Given the description of an element on the screen output the (x, y) to click on. 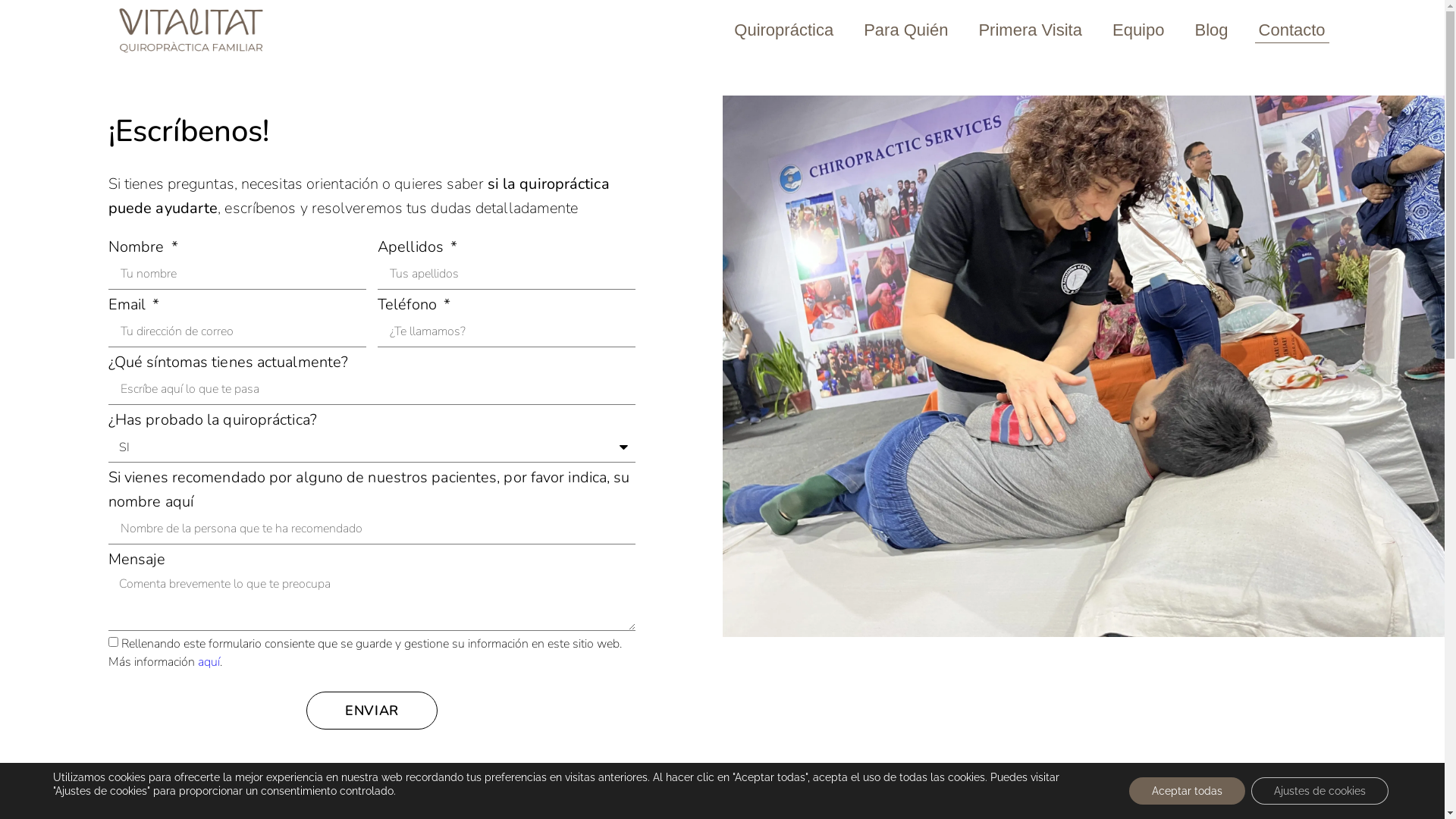
Aceptar todas Element type: text (1187, 790)
Equipo Element type: text (1138, 30)
ENVIAR Element type: text (371, 710)
Blog Element type: text (1210, 30)
Ajustes de cookies Element type: text (1319, 790)
Contacto Element type: text (1292, 30)
Primera Visita Element type: text (1029, 30)
